Given the description of an element on the screen output the (x, y) to click on. 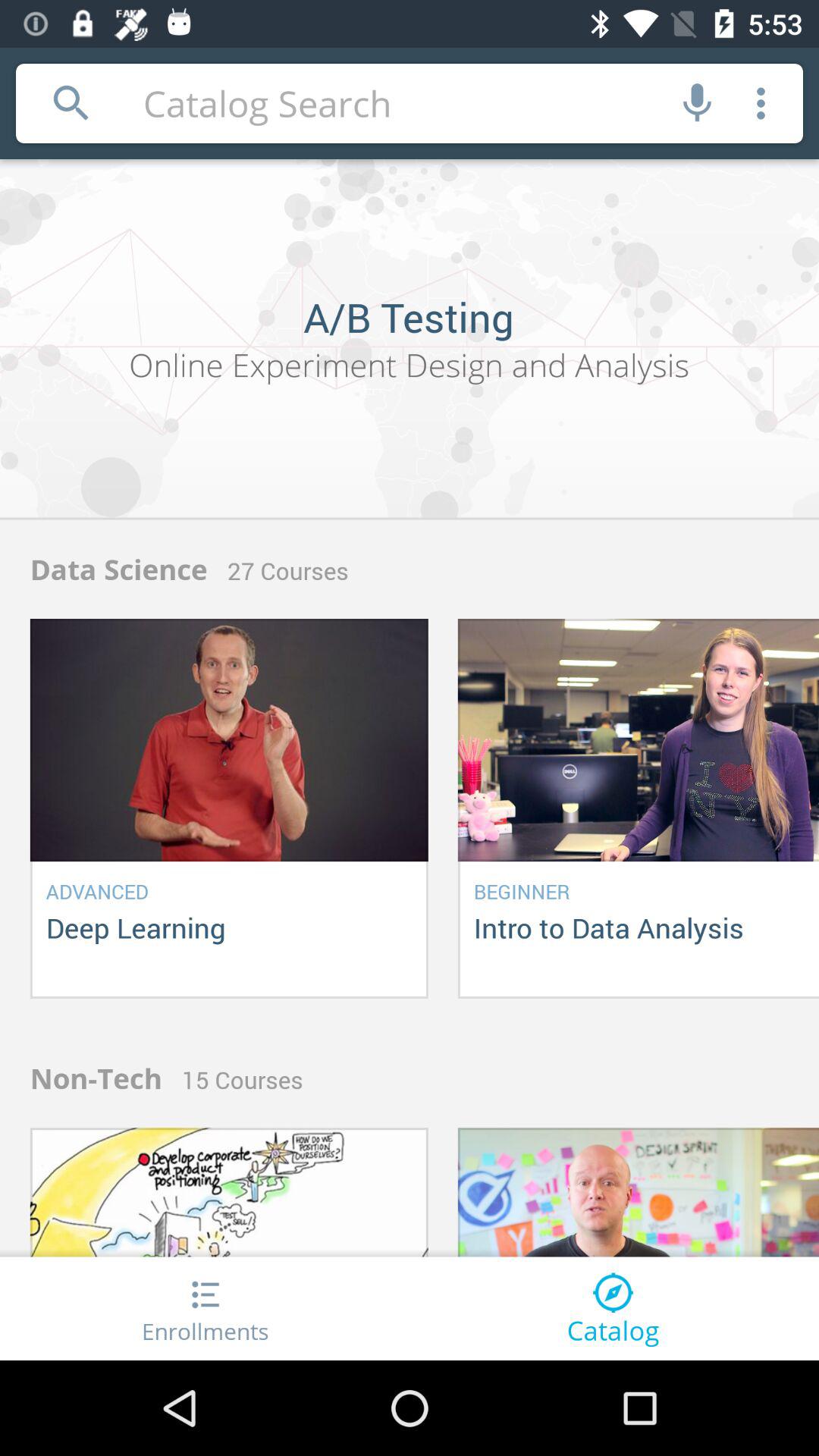
go to sound (697, 103)
